Given the description of an element on the screen output the (x, y) to click on. 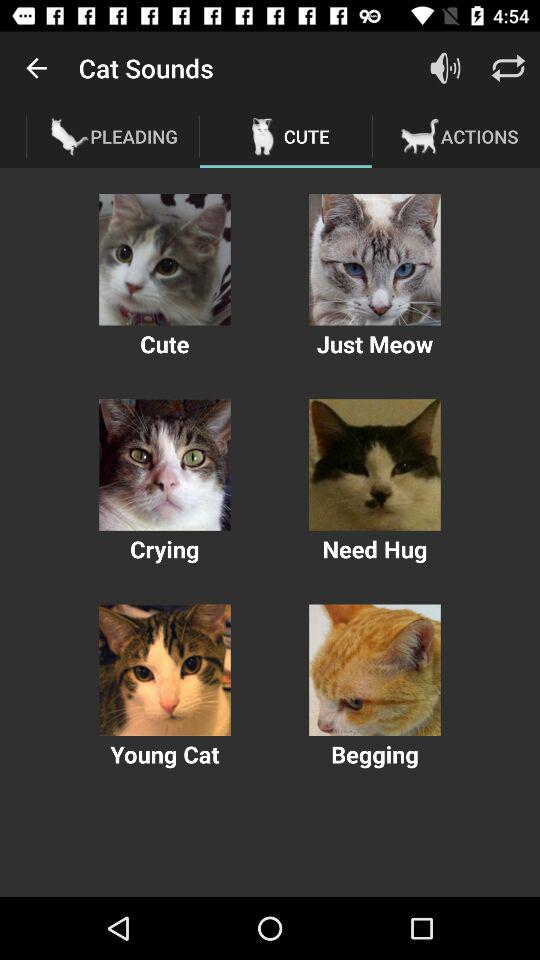
tap the item above the actions item (508, 67)
